Given the description of an element on the screen output the (x, y) to click on. 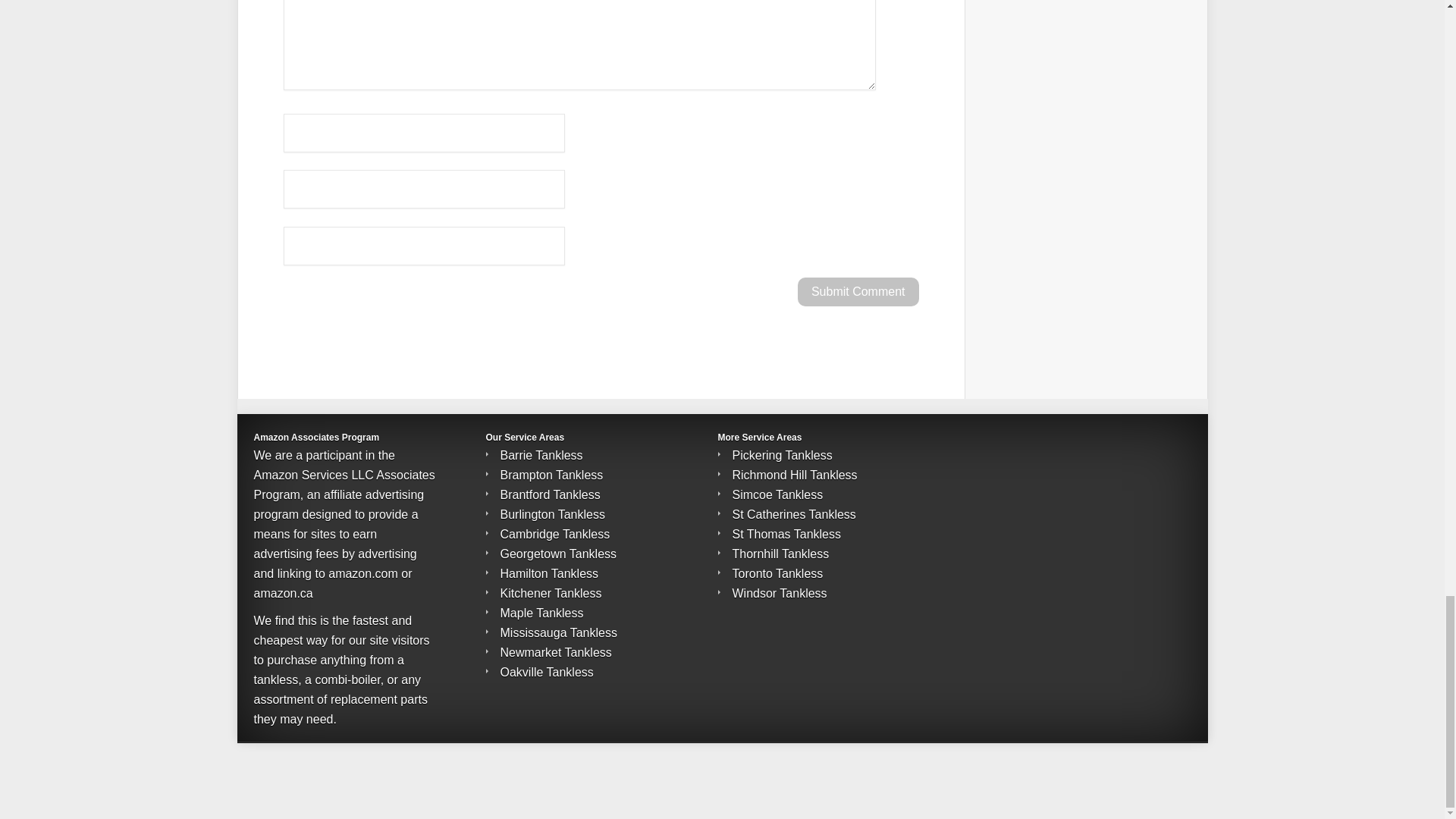
Submit Comment (857, 291)
